Given the description of an element on the screen output the (x, y) to click on. 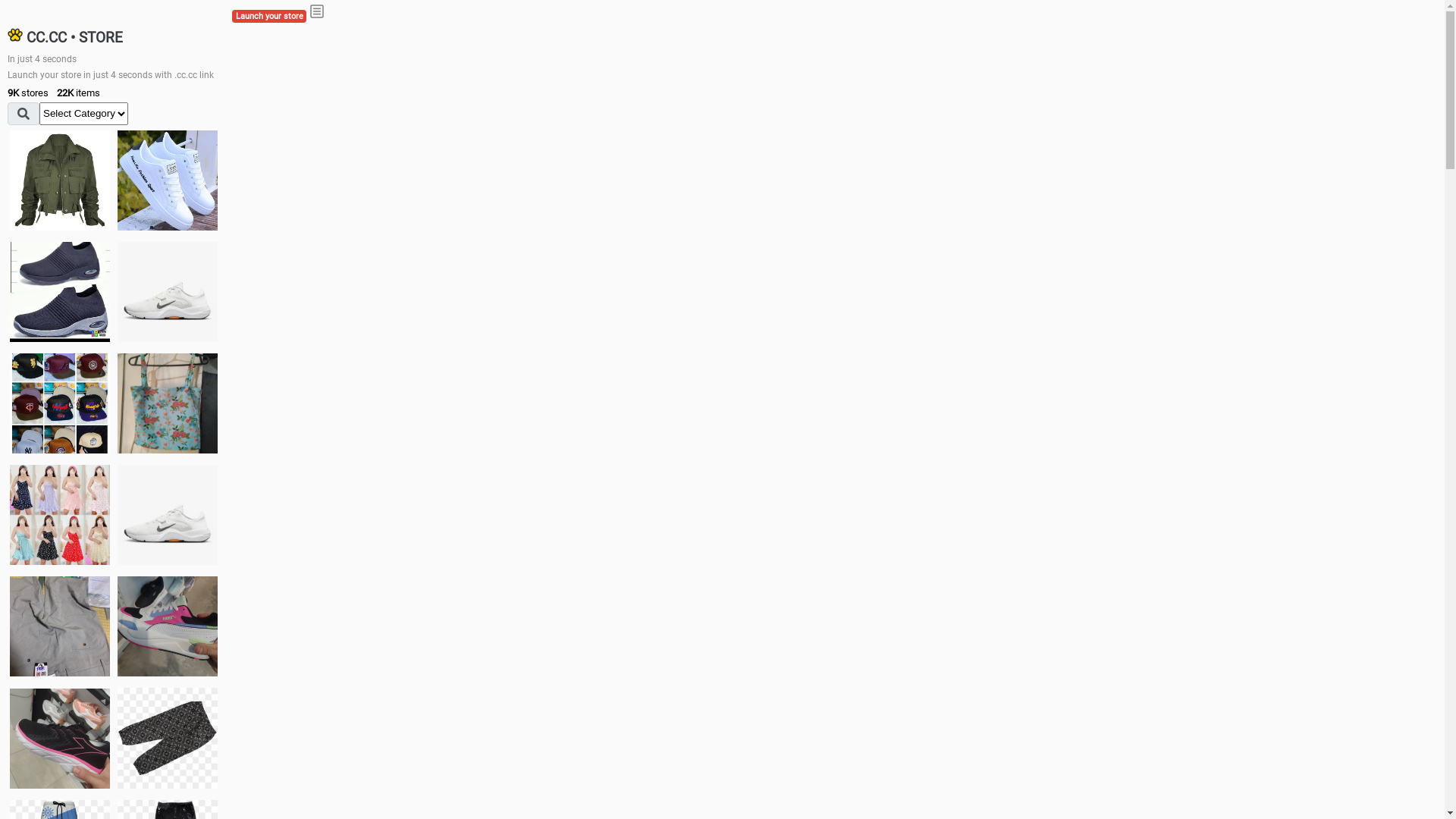
Ukay cloth Element type: hover (167, 403)
Zapatillas Element type: hover (59, 738)
white shoes Element type: hover (167, 180)
jacket Element type: hover (59, 180)
Zapatillas pumas Element type: hover (167, 626)
Shoes Element type: hover (167, 514)
Launch your store Element type: text (269, 15)
Short pant Element type: hover (167, 737)
Dress/square nect top Element type: hover (59, 514)
Things we need Element type: hover (59, 403)
Shoes for boys Element type: hover (167, 291)
shoes for boys Element type: hover (59, 291)
